Given the description of an element on the screen output the (x, y) to click on. 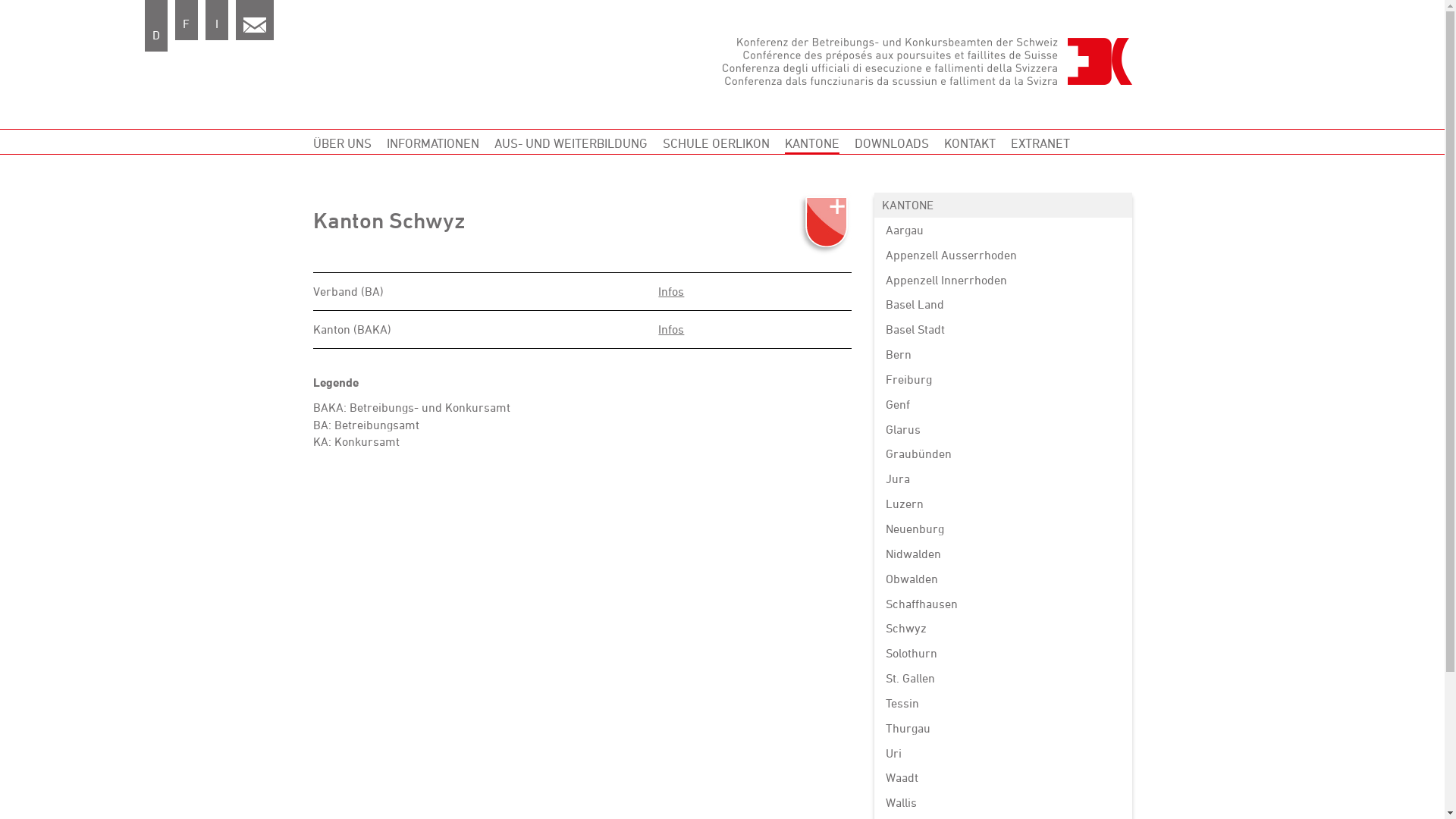
Infos Element type: text (671, 328)
Jura Element type: text (1003, 478)
Glarus Element type: text (1003, 429)
Waadt Element type: text (1003, 777)
KANTONE Element type: text (811, 142)
INFORMATIONEN Element type: text (432, 142)
DOWNLOADS Element type: text (890, 142)
Obwalden Element type: text (1003, 578)
Appenzell Innerrhoden Element type: text (1003, 279)
AUS- UND WEITERBILDUNG Element type: text (570, 142)
Infos Element type: text (671, 291)
Nidwalden Element type: text (1003, 553)
Neuenburg Element type: text (1003, 528)
Basel Land Element type: text (1003, 303)
KONTAKT Element type: text (968, 142)
Freiburg Element type: text (1003, 379)
Appenzell Ausserrhoden Element type: text (1003, 254)
Betreibung | Konkurs Schweiz Element type: hover (926, 60)
Betreibung | Konkurs Schweiz Element type: hover (253, 24)
EXTRANET Element type: text (1039, 142)
Wallis Element type: text (1003, 802)
Genf Element type: text (1003, 404)
St. Gallen Element type: text (1003, 677)
Schwyz Element type: text (1003, 627)
SCHULE OERLIKON Element type: text (715, 142)
Luzern Element type: text (1003, 503)
Tessin Element type: text (1003, 702)
Thurgau Element type: text (1003, 727)
Aargau Element type: text (1003, 229)
Uri Element type: text (1003, 752)
I Element type: text (215, 20)
D Element type: text (155, 25)
Schaffhausen Element type: text (1003, 603)
Solothurn Element type: text (1003, 652)
Bern Element type: text (1003, 354)
F Element type: text (185, 20)
Basel Stadt Element type: text (1003, 329)
